Given the description of an element on the screen output the (x, y) to click on. 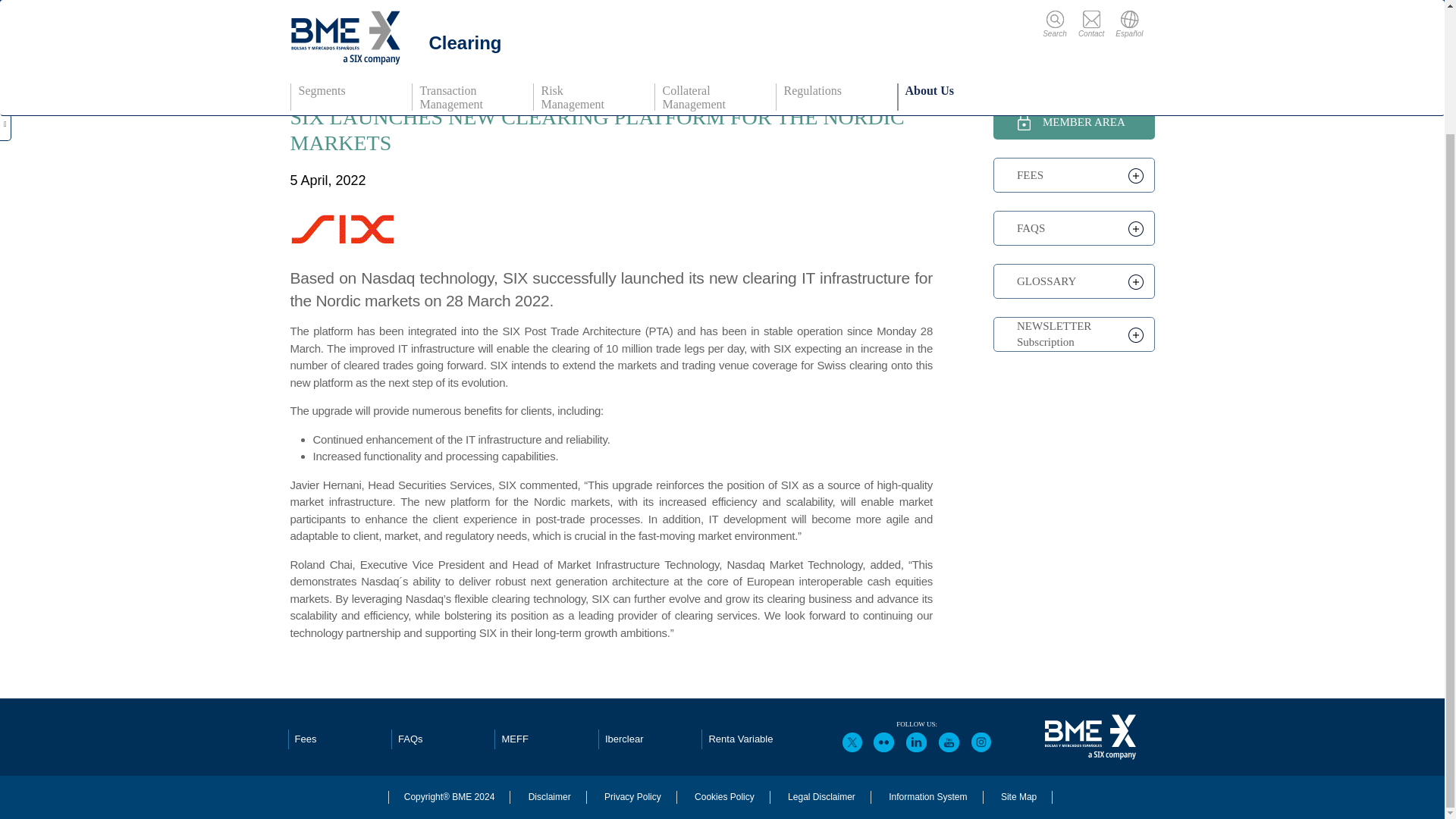
Twitter (852, 742)
LinkedIn (916, 742)
YouTube (948, 742)
Instagram (981, 742)
Flickr (883, 742)
